Given the description of an element on the screen output the (x, y) to click on. 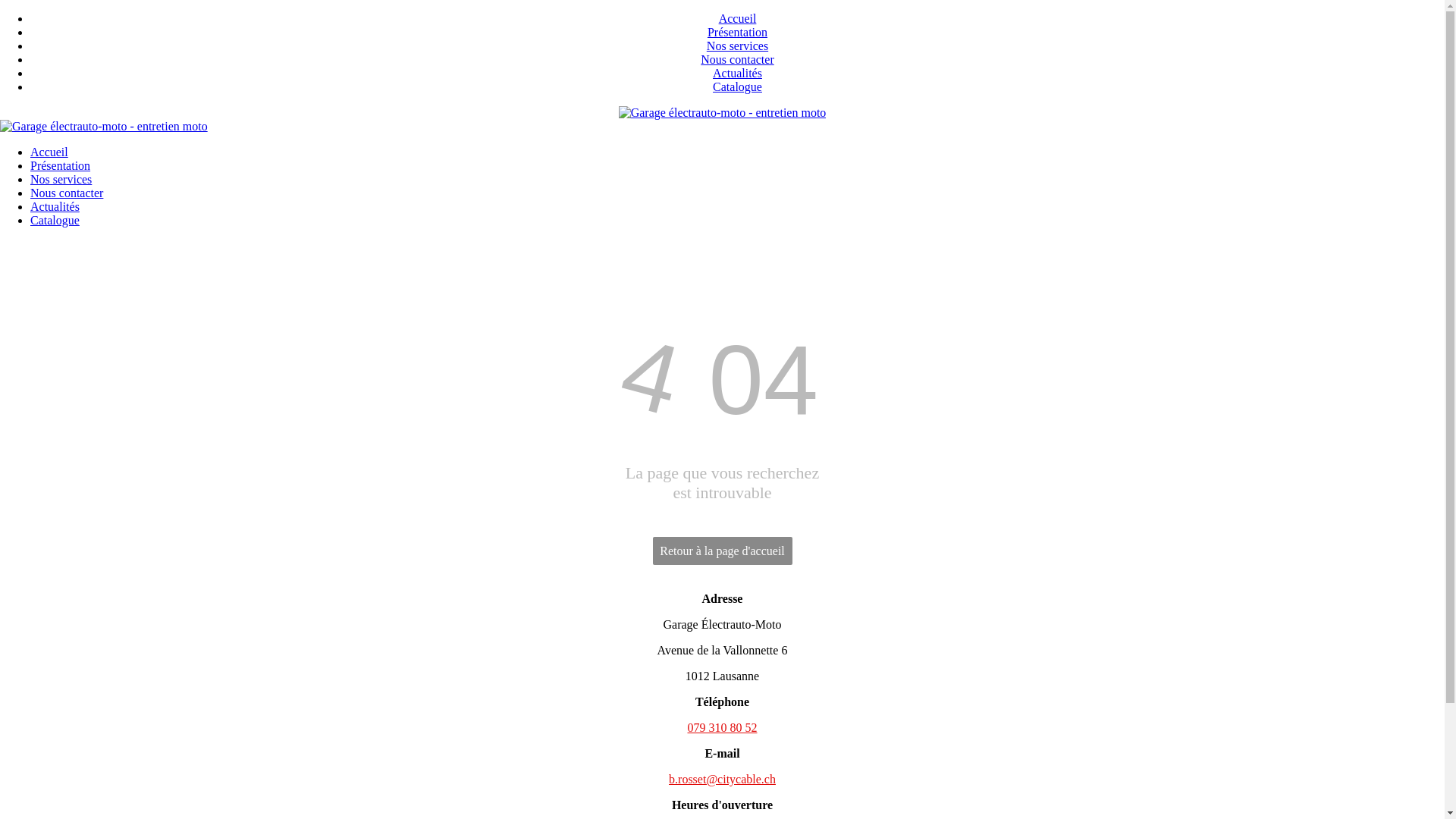
Nous contacter Element type: text (66, 192)
Catalogue Element type: text (737, 86)
Nous contacter Element type: text (736, 59)
079 310 80 52 Element type: text (721, 727)
Accueil Element type: text (737, 18)
Catalogue Element type: text (54, 219)
Nos services Element type: text (737, 45)
Accueil Element type: text (49, 151)
b.rosset@citycable.ch Element type: text (721, 778)
Nos services Element type: text (60, 178)
